Given the description of an element on the screen output the (x, y) to click on. 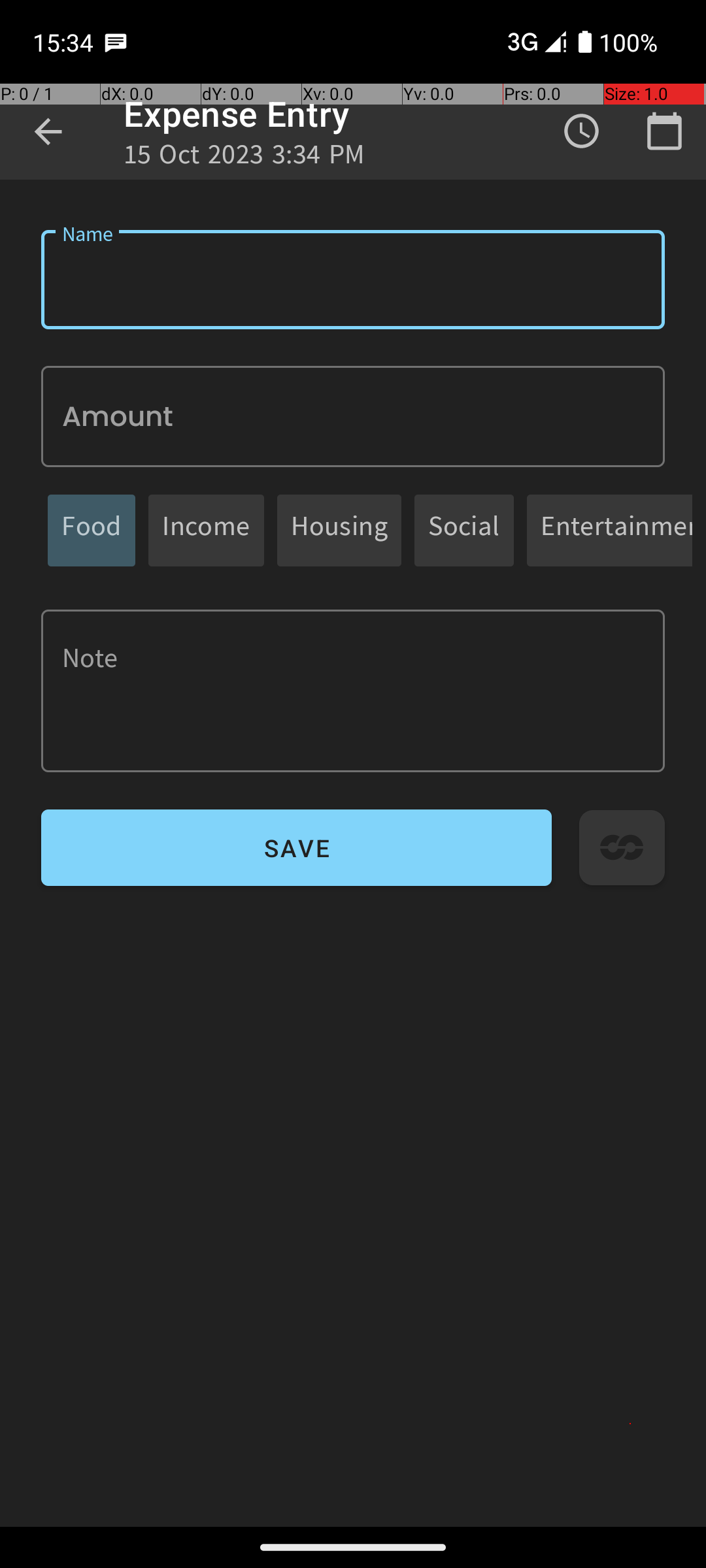
Expense Entry Element type: android.widget.TextView (236, 113)
15 Oct 2023 3:34 PM Element type: android.widget.TextView (244, 157)
Time Element type: android.widget.TextView (580, 131)
Calendar Element type: android.widget.TextView (664, 131)
Name Element type: android.widget.EditText (352, 279)
Amount Element type: android.widget.EditText (352, 416)
Note Element type: android.widget.EditText (352, 690)
SAVE Element type: android.widget.Button (296, 847)
Food Element type: android.widget.TextView (91, 530)
Income Element type: android.widget.TextView (206, 530)
Housing Element type: android.widget.TextView (338, 530)
Social Element type: android.widget.TextView (464, 530)
Entertainment Element type: android.widget.TextView (616, 530)
SMS Messenger notification: Matteo Ibrahim Element type: android.widget.ImageView (115, 41)
